Given the description of an element on the screen output the (x, y) to click on. 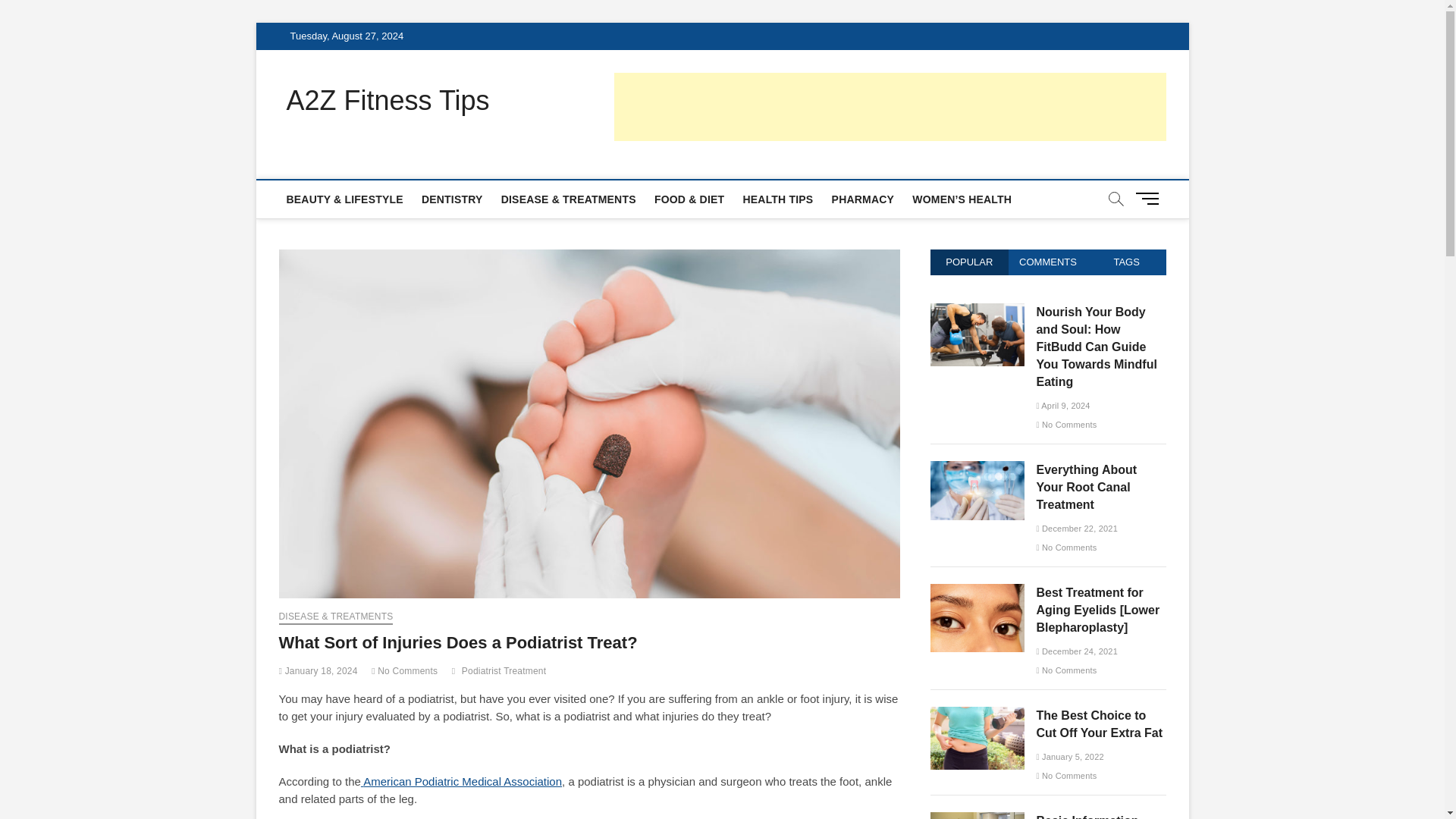
PHARMACY (863, 199)
No Comments (1065, 547)
December 22, 2021 (1076, 528)
No Comments (1065, 424)
COMMENTS (1048, 262)
Podiatrist Treatment (505, 672)
American Podiatric Medical Association (461, 780)
HEALTH TIPS (778, 199)
DENTISTRY (451, 199)
